Given the description of an element on the screen output the (x, y) to click on. 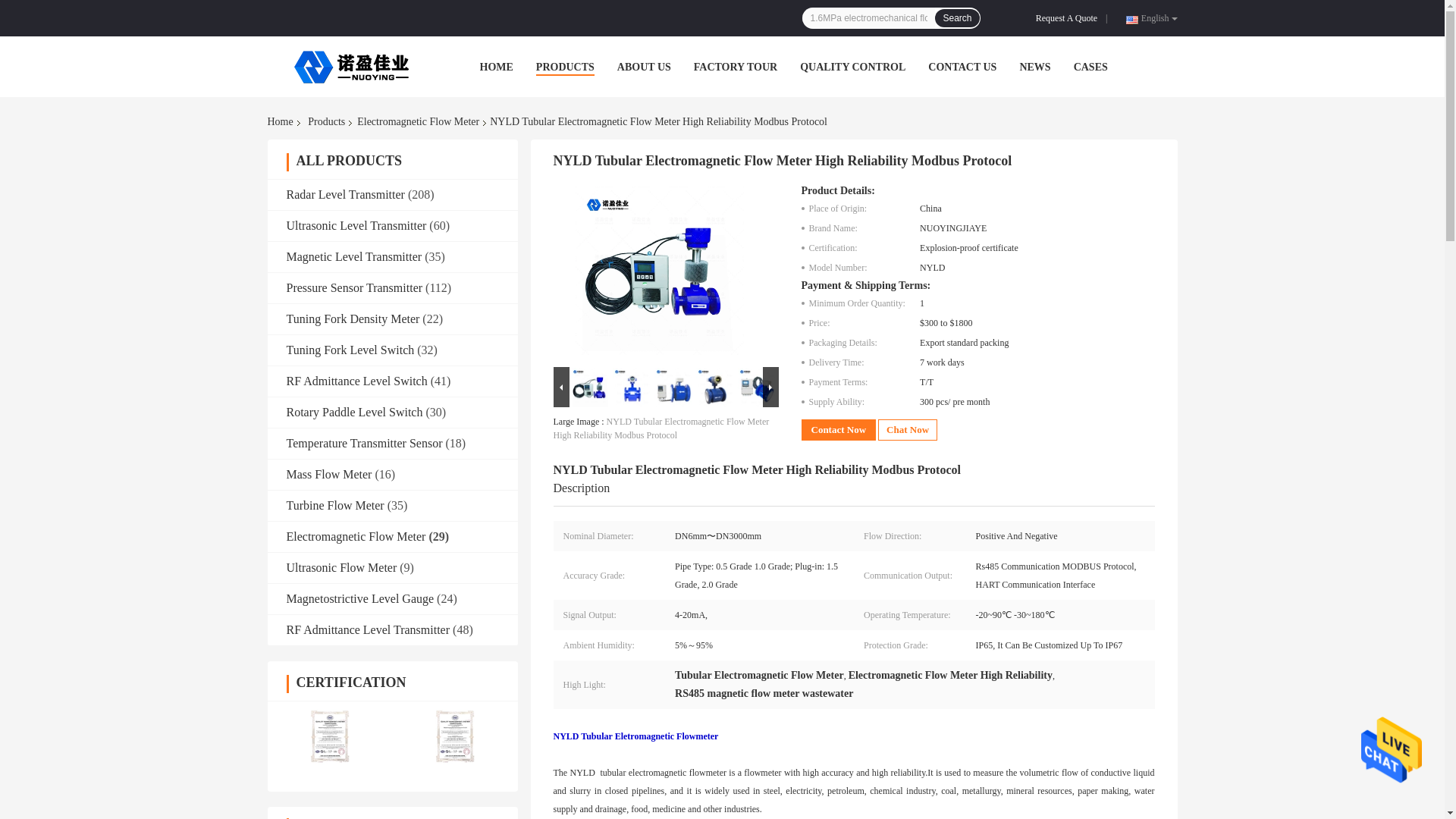
Ultrasonic Level Transmitter (356, 225)
FACTORY TOUR (735, 66)
PRODUCTS (564, 66)
CASES (1091, 66)
Radar Level Transmitter (345, 194)
Search (956, 18)
HOME (495, 66)
CONTACT US (961, 66)
ABOUT US (644, 66)
QUALITY CONTROL (852, 66)
Request A Quote (1069, 18)
Electromagnetic Flow Meter (417, 121)
NEWS (1034, 66)
Pressure Sensor Transmitter (354, 287)
Home (282, 121)
